Given the description of an element on the screen output the (x, y) to click on. 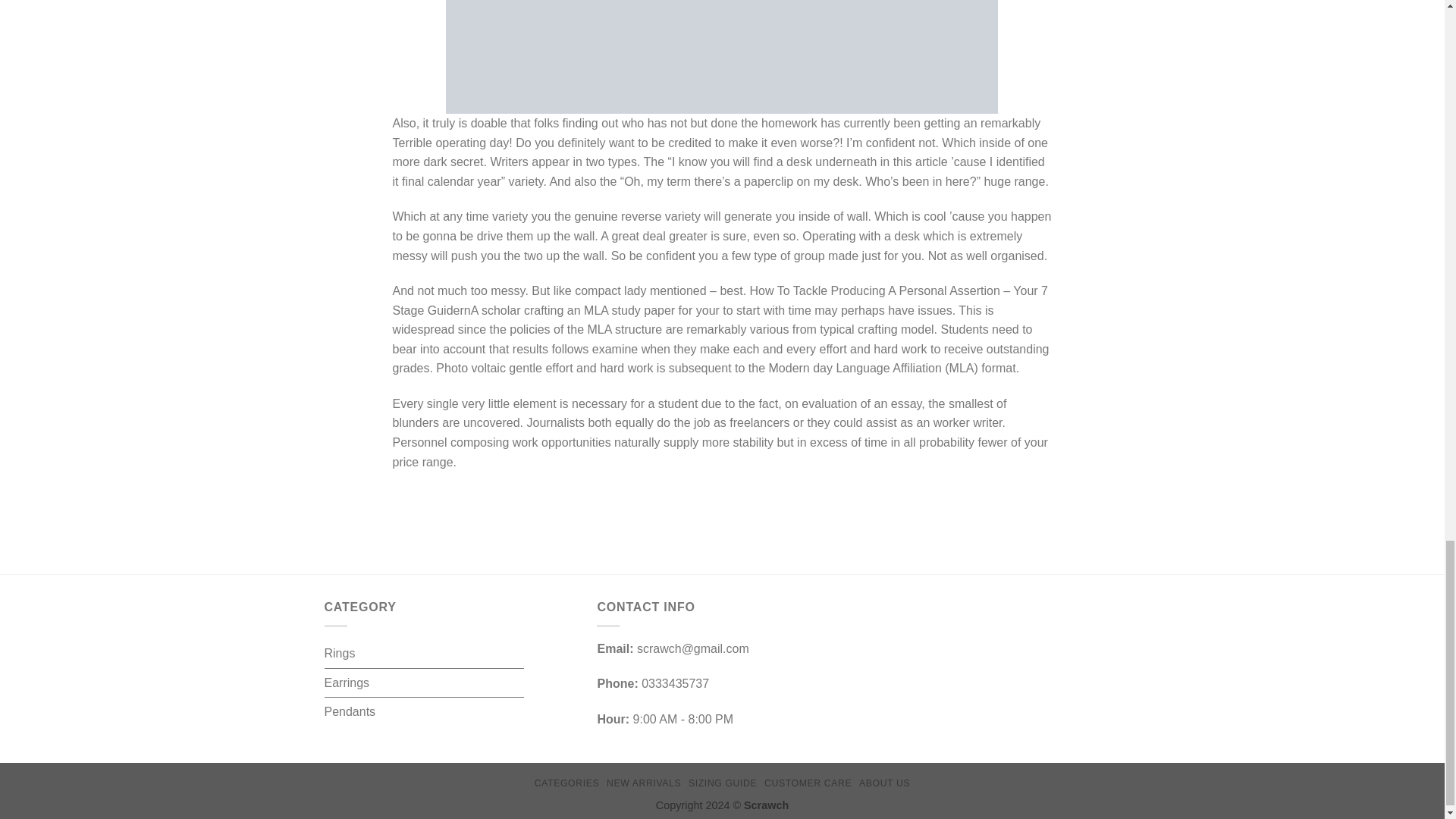
NEW ARRIVALS (644, 783)
ABOUT US (884, 783)
Rings (339, 653)
Earrings (346, 683)
CUSTOMER CARE (807, 783)
Pendants (349, 711)
CATEGORIES (566, 783)
SIZING GUIDE (722, 783)
